Given the description of an element on the screen output the (x, y) to click on. 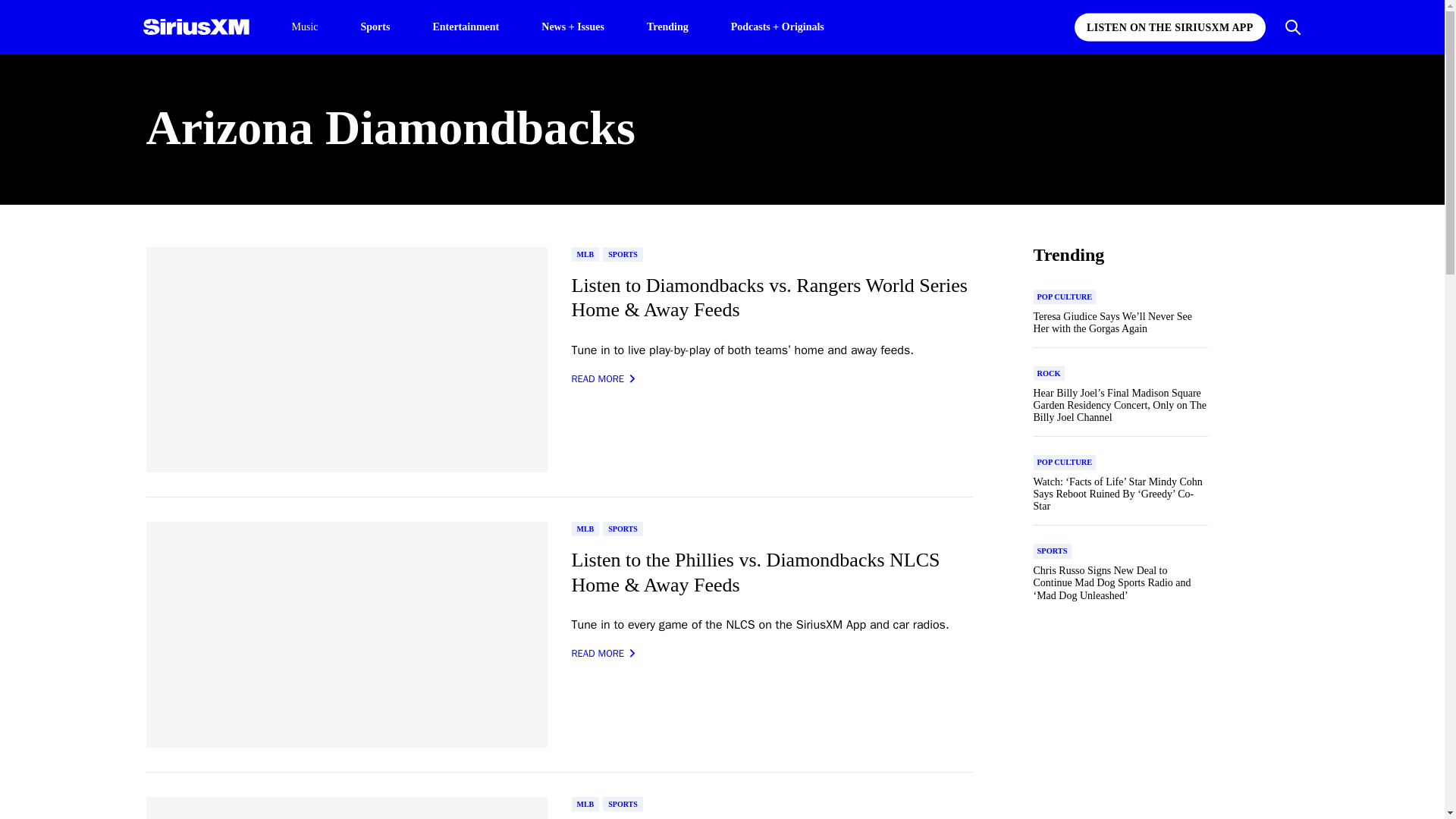
SPORTS (622, 254)
Sports (375, 26)
MLB (585, 803)
READ MORE (603, 653)
Trending (667, 26)
Music (304, 26)
SPORTS (622, 803)
MLB (585, 528)
SPORTS (622, 528)
Entertainment (465, 26)
READ MORE (603, 378)
MLB (585, 254)
LISTEN ON THE SIRIUSXM APP (1169, 27)
